Given the description of an element on the screen output the (x, y) to click on. 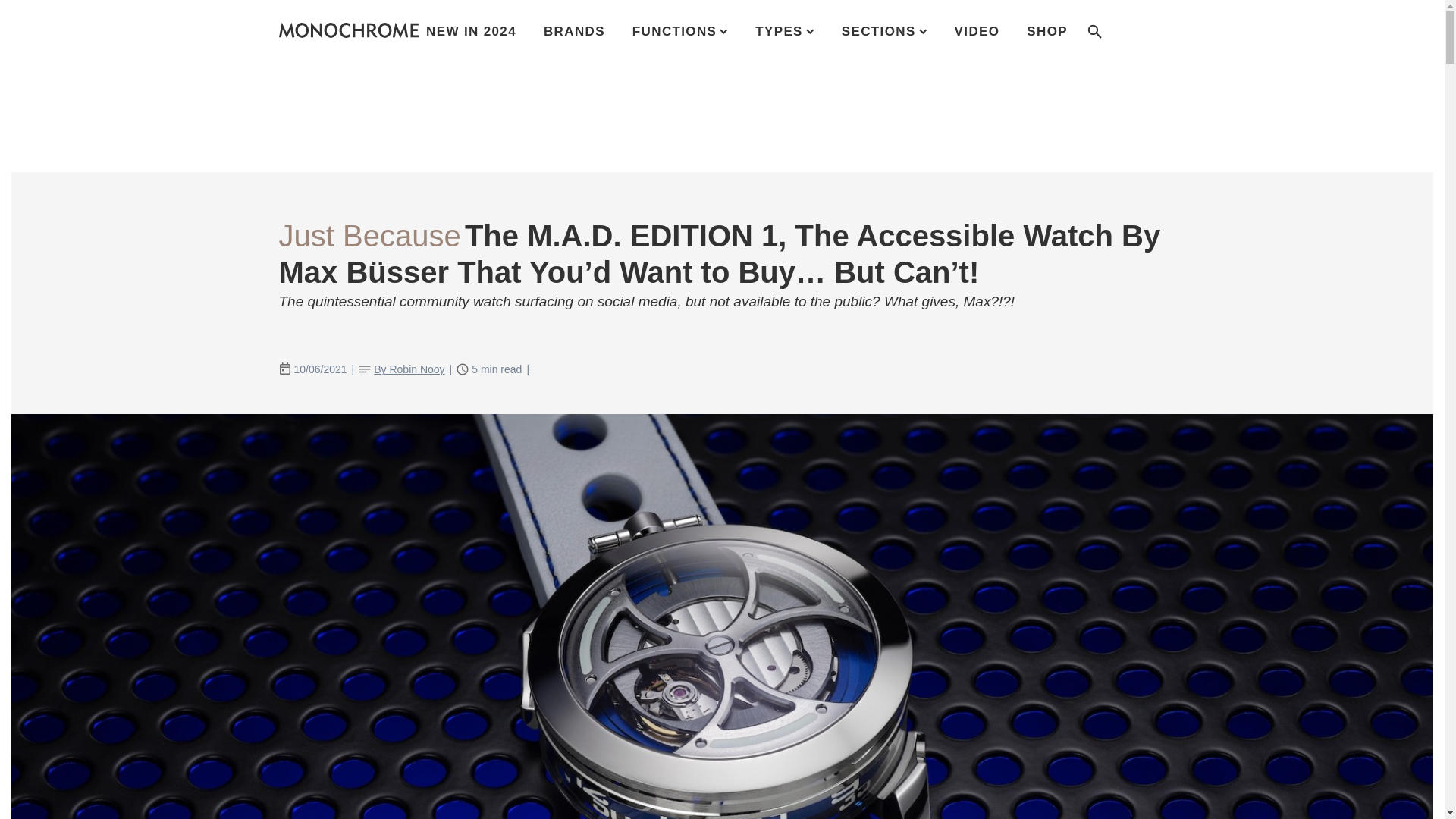
Monochrome Watches (349, 29)
Robin Nooy (409, 369)
